Given the description of an element on the screen output the (x, y) to click on. 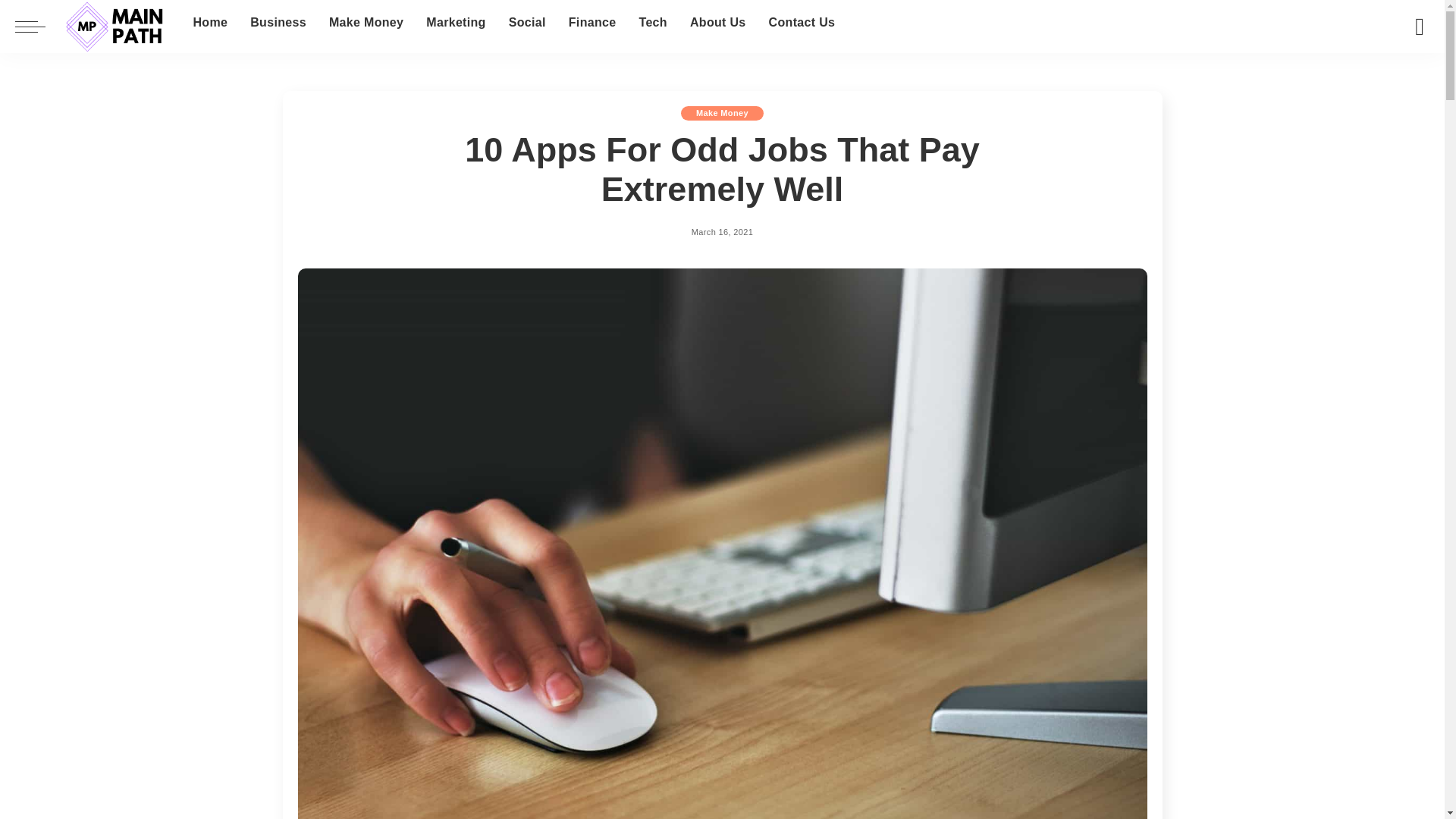
Search (1408, 73)
Marketing (455, 22)
Tech (652, 22)
About Us (717, 22)
Make Money (365, 22)
Main Path (115, 26)
Contact Us (802, 22)
Social (527, 22)
Finance (592, 22)
Business (277, 22)
Home (209, 22)
